Given the description of an element on the screen output the (x, y) to click on. 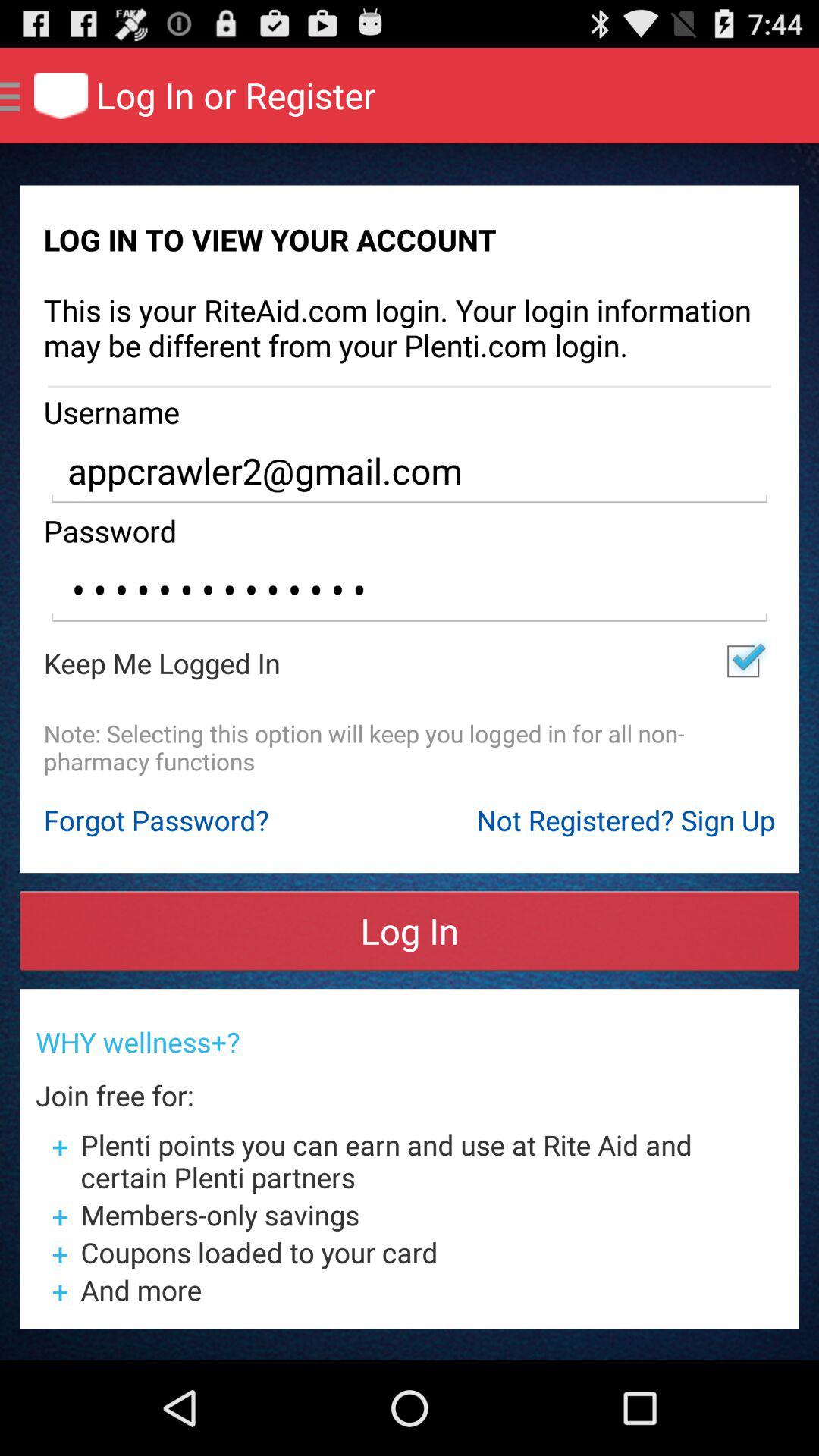
scroll until the appcrawler2@gmail.com item (409, 471)
